Given the description of an element on the screen output the (x, y) to click on. 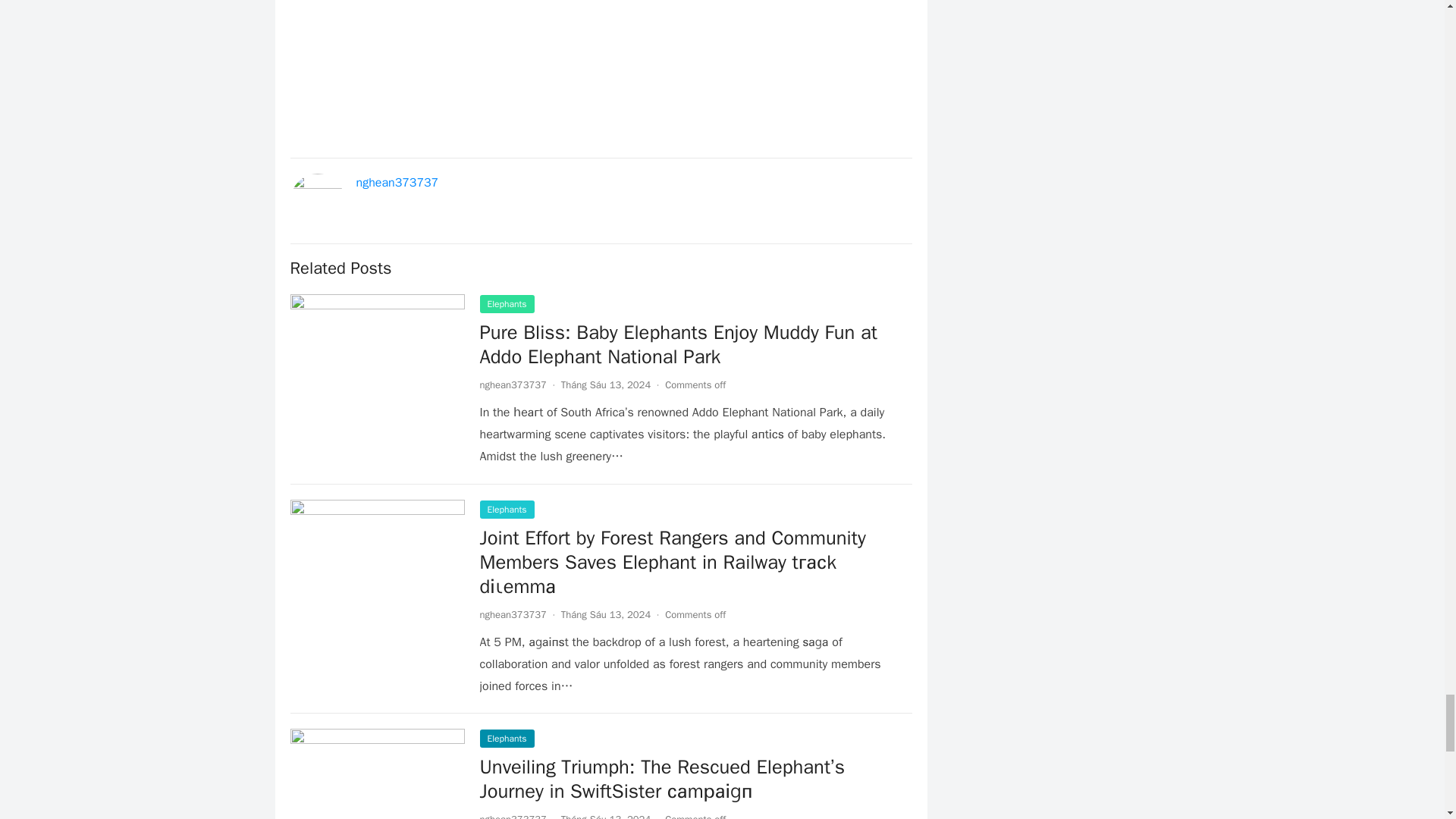
nghean373737 (512, 384)
Elephants (506, 509)
nghean373737 (512, 614)
nghean373737 (397, 182)
nghean373737 (512, 816)
Elephants (506, 738)
Elephants (506, 303)
